Given the description of an element on the screen output the (x, y) to click on. 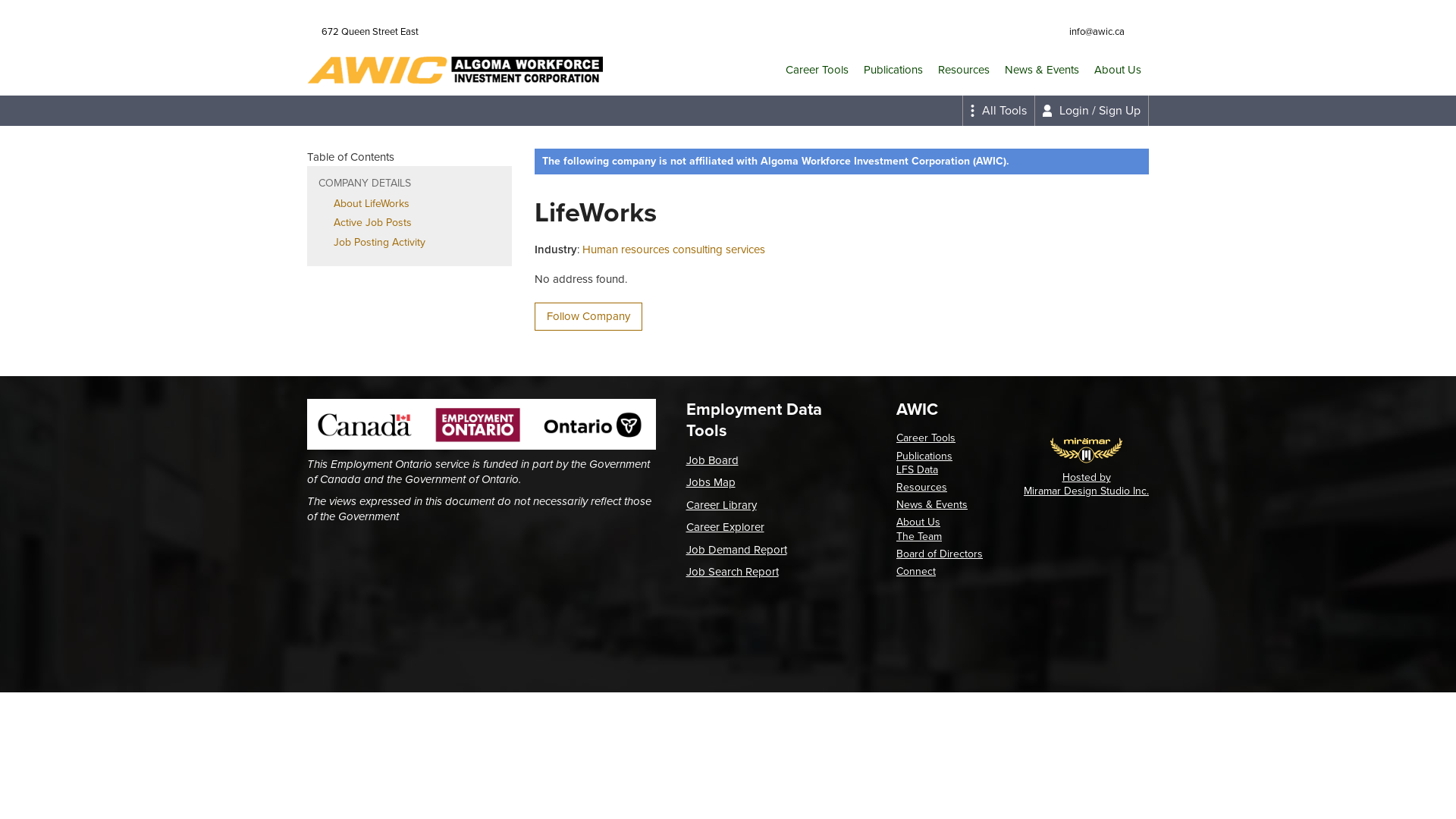
Job Search Report Element type: text (731, 571)
Publications Element type: text (893, 69)
Career Library Element type: text (720, 504)
Follow Company Element type: text (588, 316)
News & Events Element type: text (1041, 69)
Job Demand Report Element type: text (735, 549)
Active Job Posts Element type: text (372, 222)
News & Events Element type: text (931, 504)
Login / Sign Up Element type: text (1091, 110)
About Us Element type: text (1117, 69)
Resources Element type: text (963, 69)
Job Posting Activity Element type: text (379, 242)
Job Board Element type: text (711, 459)
Career Tools Element type: text (817, 69)
Board of Directors Element type: text (939, 553)
Human resources consulting services Element type: text (673, 249)
info@awic.ca Element type: text (1093, 31)
All Tools Element type: text (998, 110)
The Team Element type: text (918, 535)
Hosted by
Miramar Design Studio Inc. Element type: text (1085, 483)
Publications Element type: text (924, 456)
Connect Element type: text (915, 571)
About LifeWorks Element type: text (371, 203)
Jobs Map Element type: text (709, 481)
Resources Element type: text (921, 487)
LFS Data Element type: text (917, 469)
Career Explorer Element type: text (724, 526)
672 Queen Street East Element type: text (366, 31)
Career Tools Element type: text (925, 437)
About Us Element type: text (918, 522)
